Given the description of an element on the screen output the (x, y) to click on. 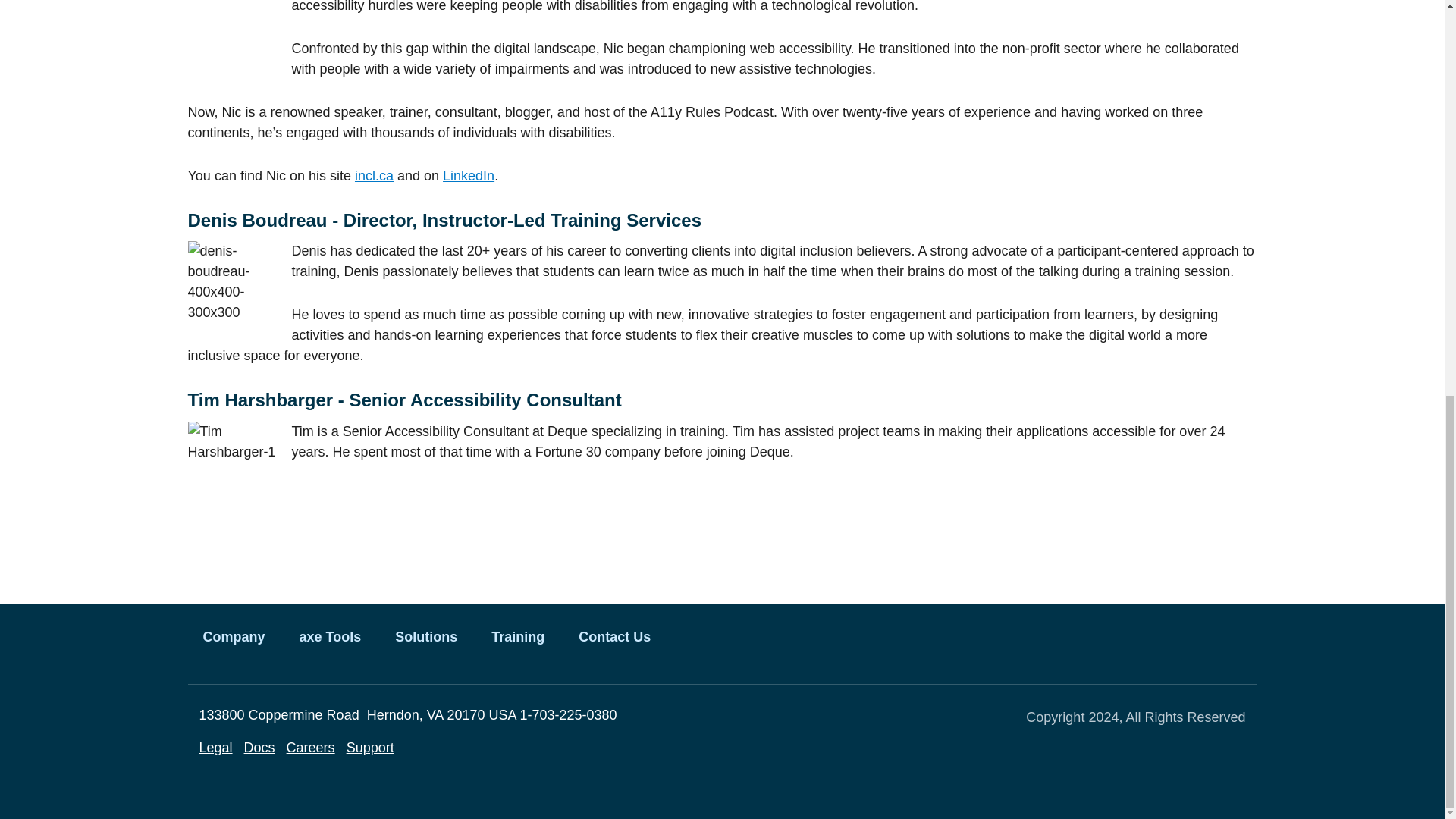
Careers (310, 748)
Contact Us (614, 637)
Docs (259, 748)
Company (234, 637)
LinkedIn (468, 175)
axe Tools (330, 637)
1-703-225-0380 (567, 715)
Support (370, 748)
incl.ca (374, 175)
Training (517, 637)
Solutions (425, 637)
Legal (214, 748)
